Given the description of an element on the screen output the (x, y) to click on. 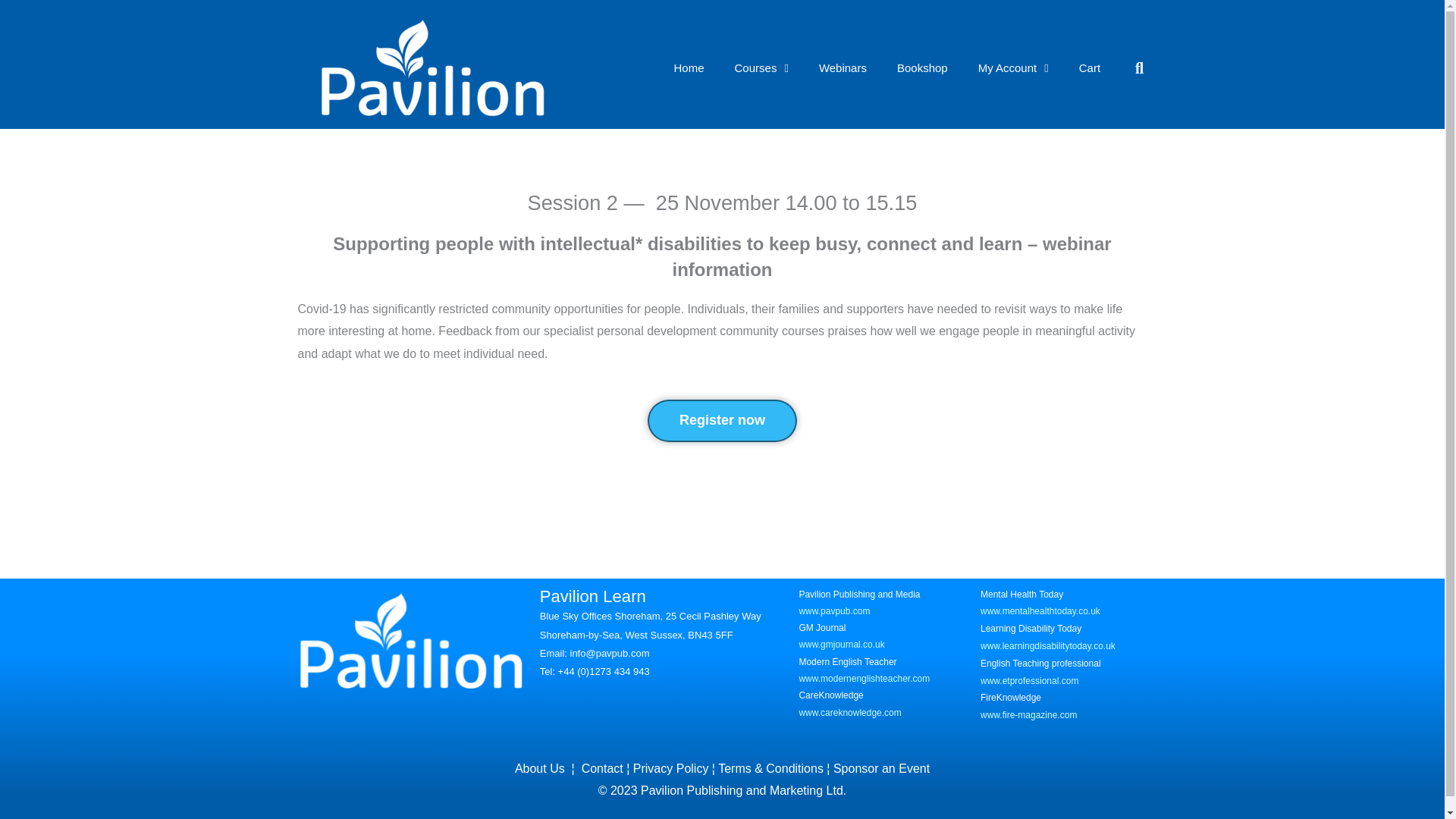
Bookshop (922, 68)
www.gmjournal.co.uk (840, 644)
Courses (761, 68)
www.pavpub.com (833, 611)
Webinars (842, 68)
Register now (721, 420)
www.mentalhealthtoday.co.uk (1039, 611)
My Account (1013, 68)
www.modernenglishteacher.com (863, 678)
www.careknowledge.com (849, 712)
